Given the description of an element on the screen output the (x, y) to click on. 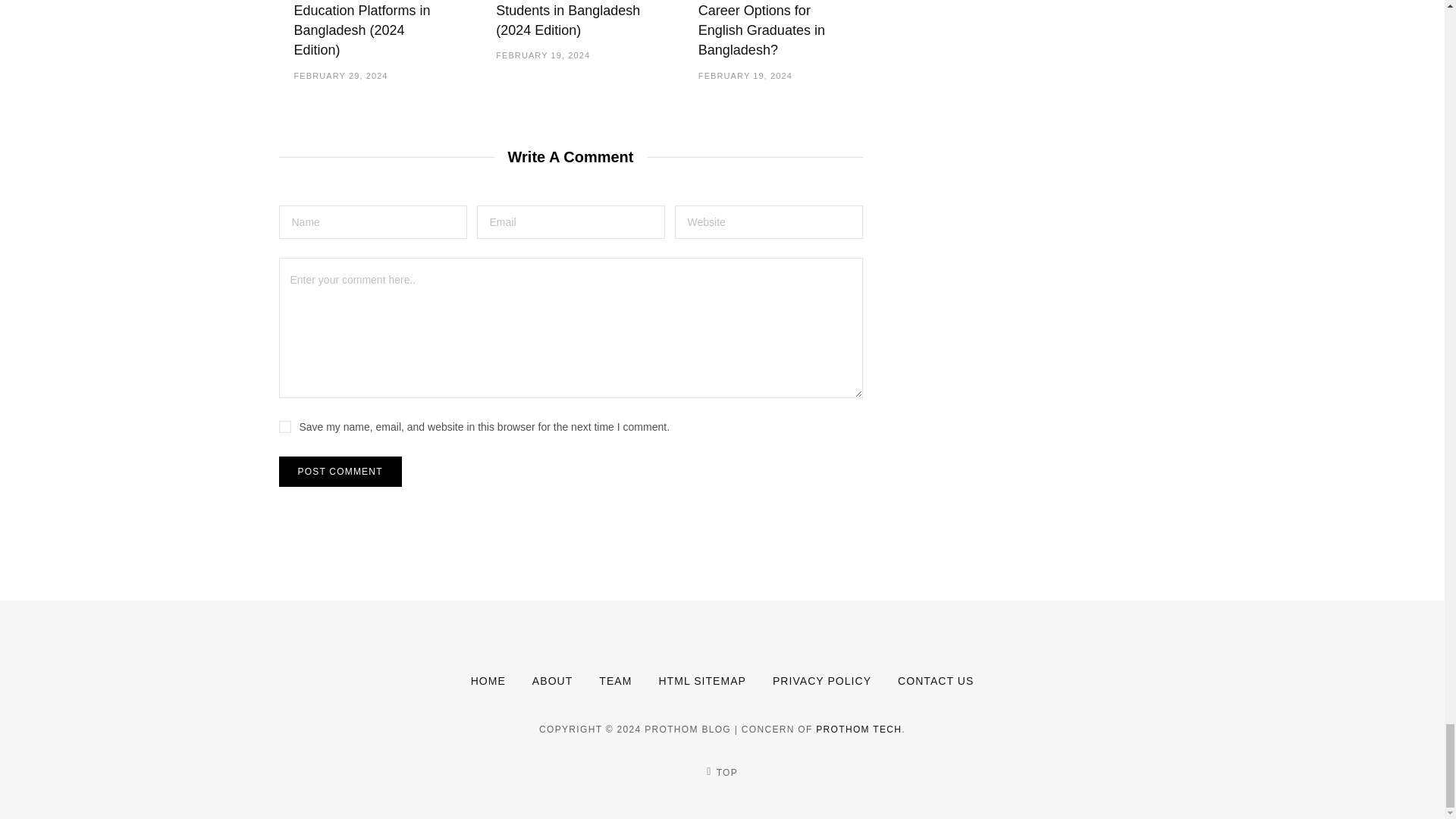
Post Comment (340, 471)
yes (285, 426)
Post Comment (340, 471)
